Given the description of an element on the screen output the (x, y) to click on. 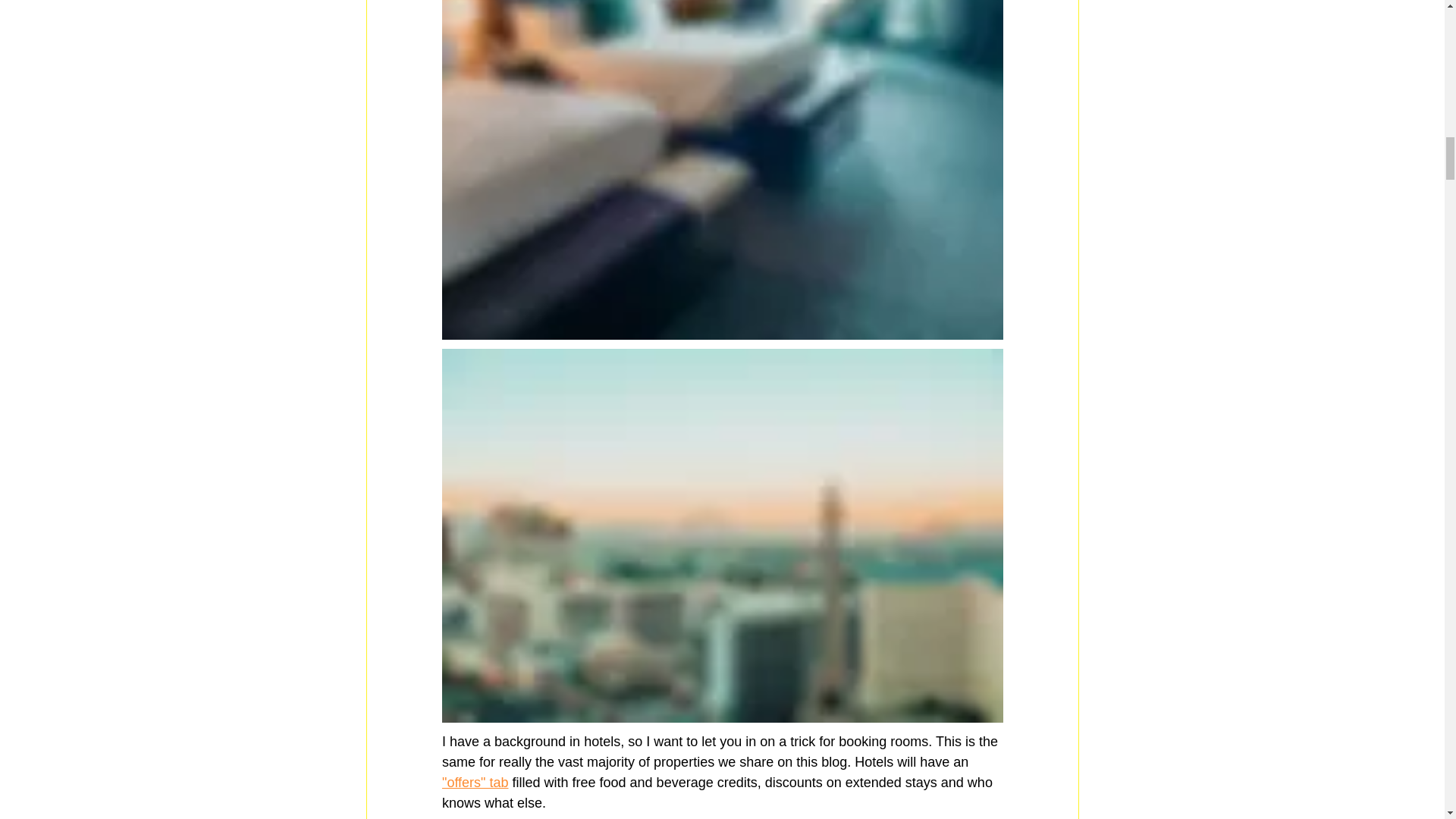
"offers" tab (474, 782)
